Given the description of an element on the screen output the (x, y) to click on. 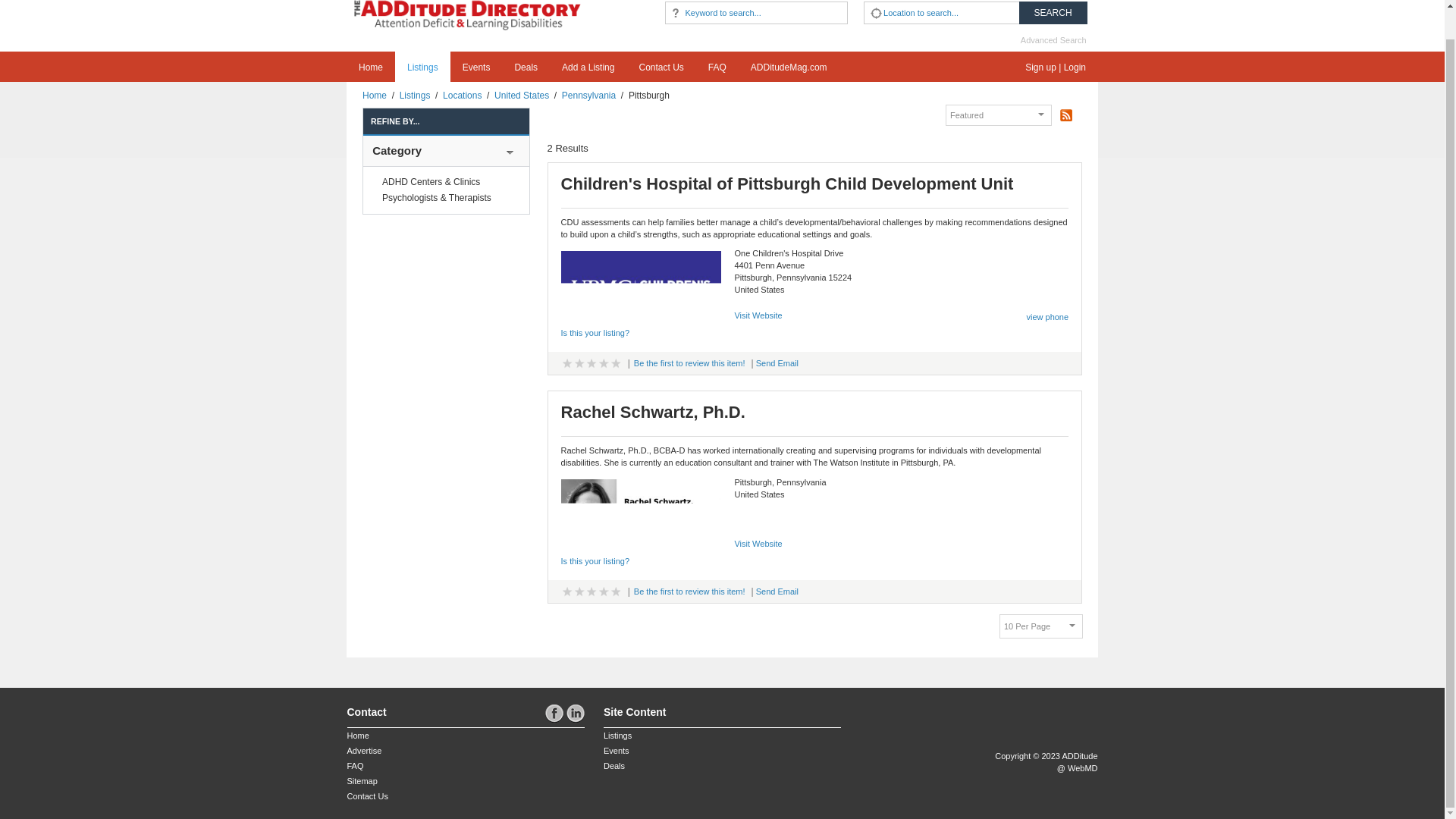
Pennsylvania (588, 95)
Rachel Schwartz, Ph.D. (641, 513)
FAQ (716, 66)
Find us on LinkedIn (575, 712)
Events (475, 66)
Contact Us (660, 66)
SEARCH (1053, 12)
Listings (414, 95)
Visit Website (757, 542)
Listings (421, 66)
